Given the description of an element on the screen output the (x, y) to click on. 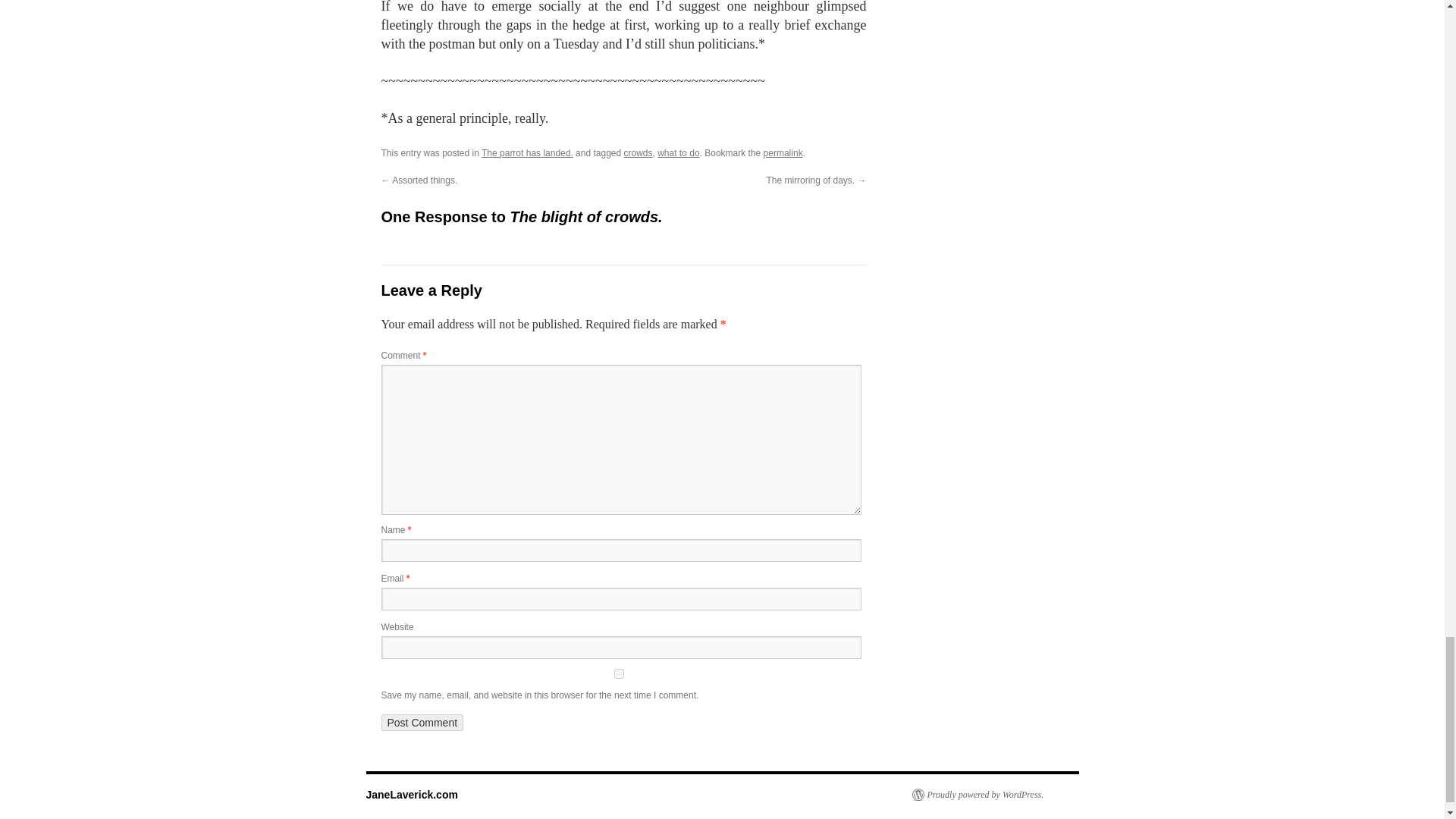
permalink (782, 153)
Post Comment (421, 722)
JaneLaverick.com (411, 794)
what to do (678, 153)
Post Comment (421, 722)
crowds (637, 153)
yes (618, 673)
Permalink to The blight of crowds. (782, 153)
Semantic Personal Publishing Platform (977, 794)
The parrot has landed. (527, 153)
